Given the description of an element on the screen output the (x, y) to click on. 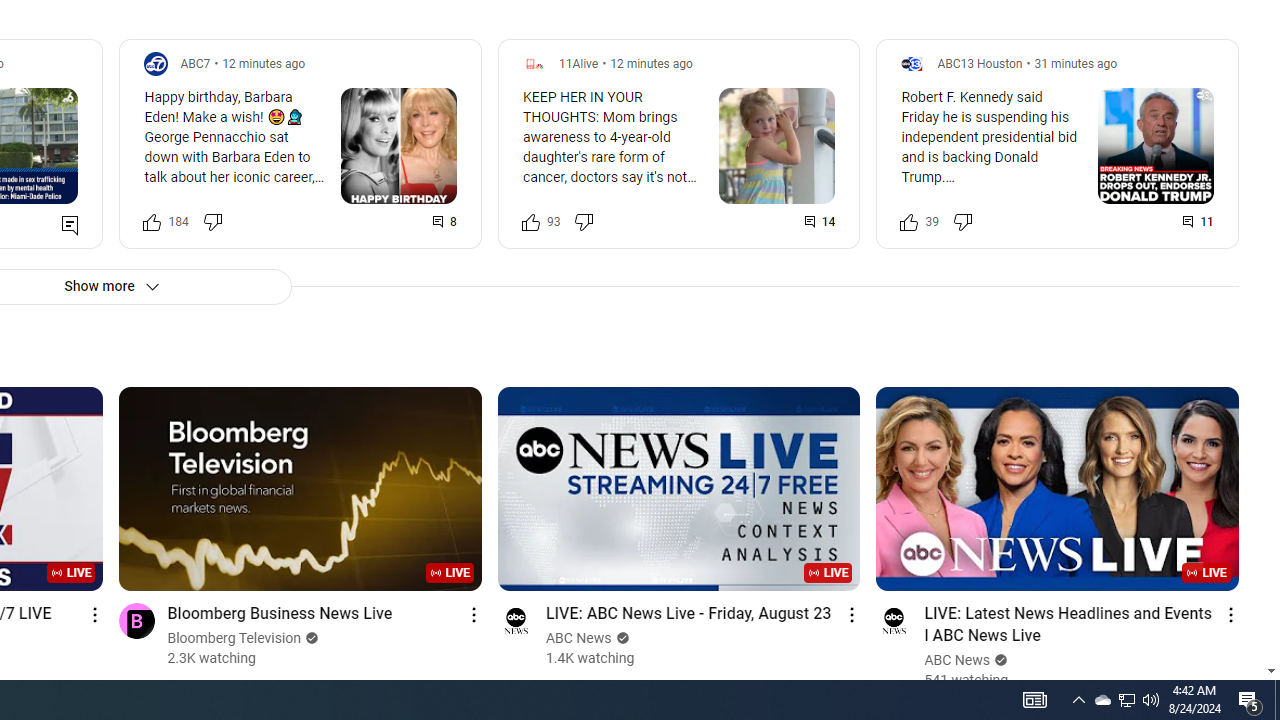
Like this post along with 184 other people (151, 221)
Dislike this post (962, 221)
11Alive (578, 63)
Bloomberg Television (234, 637)
